Given the description of an element on the screen output the (x, y) to click on. 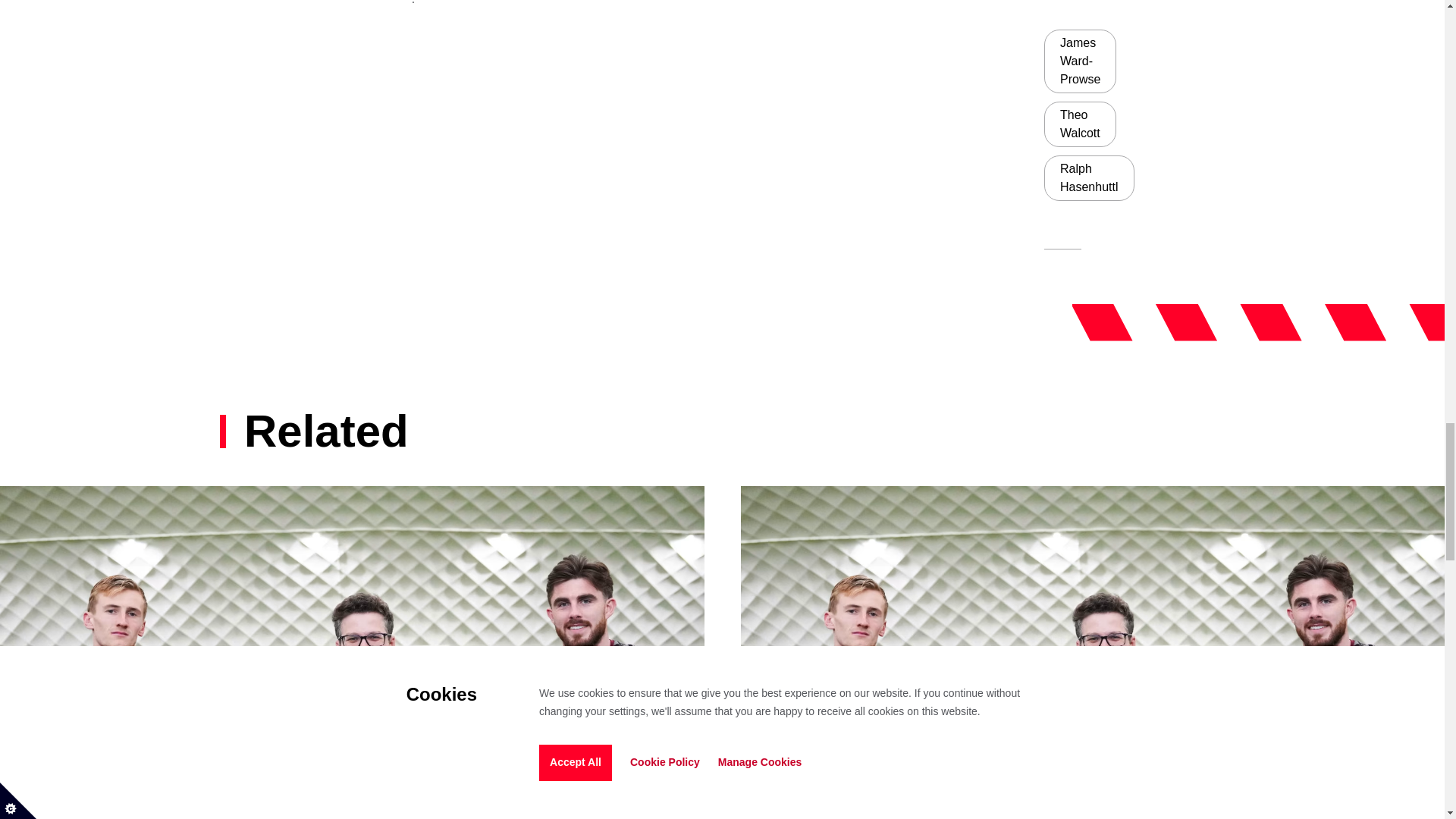
Theo Walcott (1079, 124)
James Ward-Prowse (1079, 61)
Ralph Hasenhuttl (1088, 177)
